Given the description of an element on the screen output the (x, y) to click on. 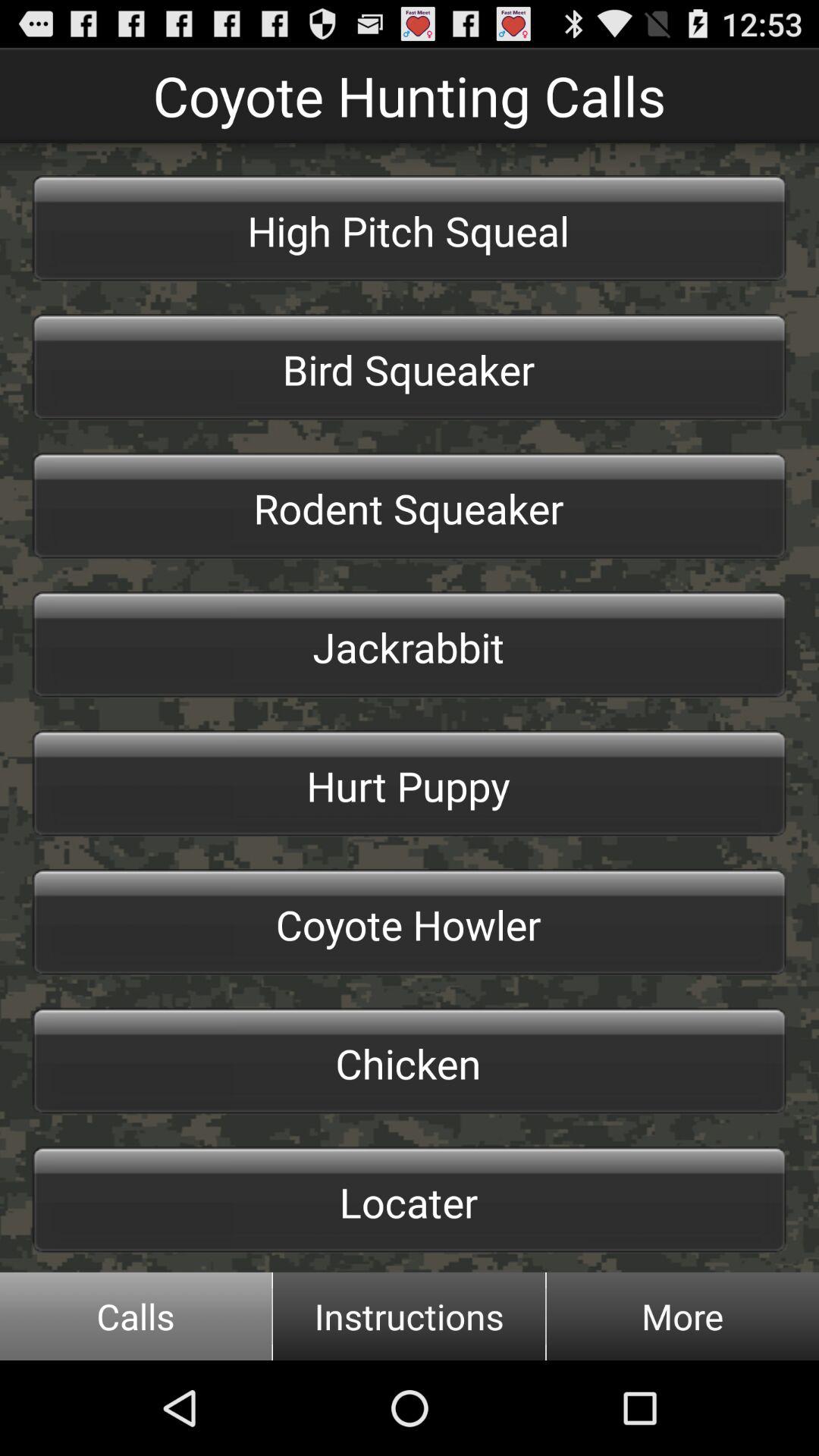
turn off the locater (409, 1199)
